Given the description of an element on the screen output the (x, y) to click on. 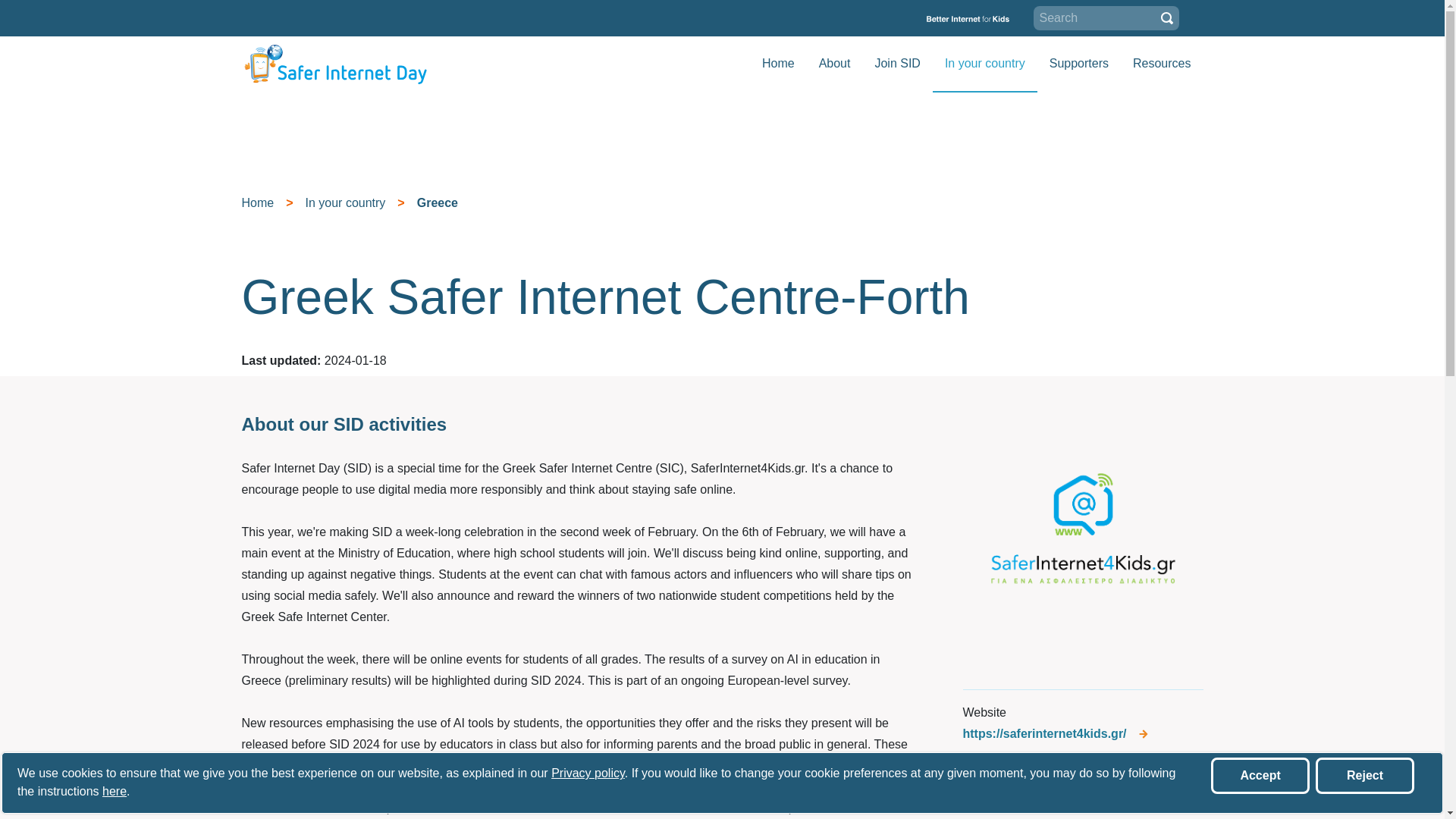
Go to In your country (984, 63)
Supporters (1078, 63)
Home (777, 63)
Mail to supporter (1083, 801)
Privacy policy (587, 772)
Home (257, 202)
Accept (1259, 775)
Resources (1161, 63)
here (113, 790)
Go to homepage (335, 64)
Reject (1364, 775)
In your country (984, 63)
About (834, 63)
Join SID (896, 63)
Go to Home (777, 63)
